Given the description of an element on the screen output the (x, y) to click on. 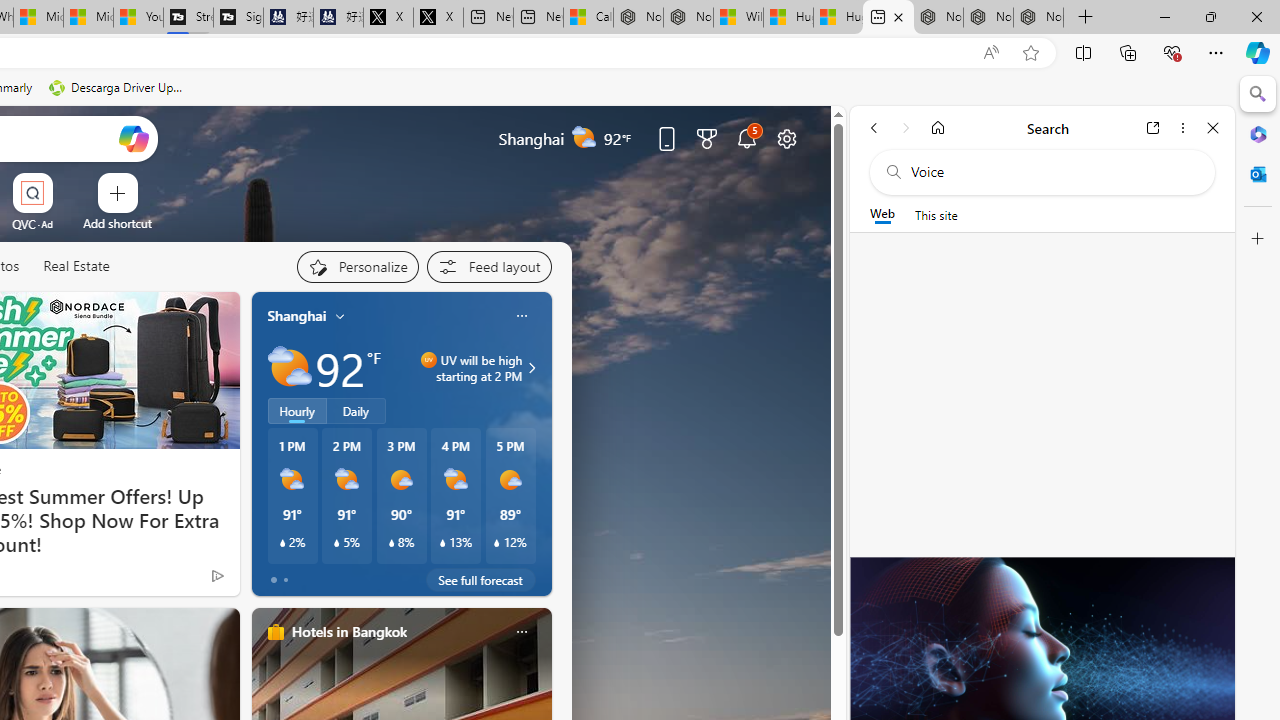
Search the web (1051, 172)
Microsoft rewards (707, 138)
hotels-header-icon (275, 632)
Microsoft 365 (1258, 133)
Streaming Coverage | T3 (187, 17)
UV will be high starting at 2 PM (529, 367)
Page settings (786, 138)
Class: weather-arrow-glyph (531, 367)
Real Estate (75, 267)
Hotels in Bangkok (348, 631)
Hourly (296, 411)
